Given the description of an element on the screen output the (x, y) to click on. 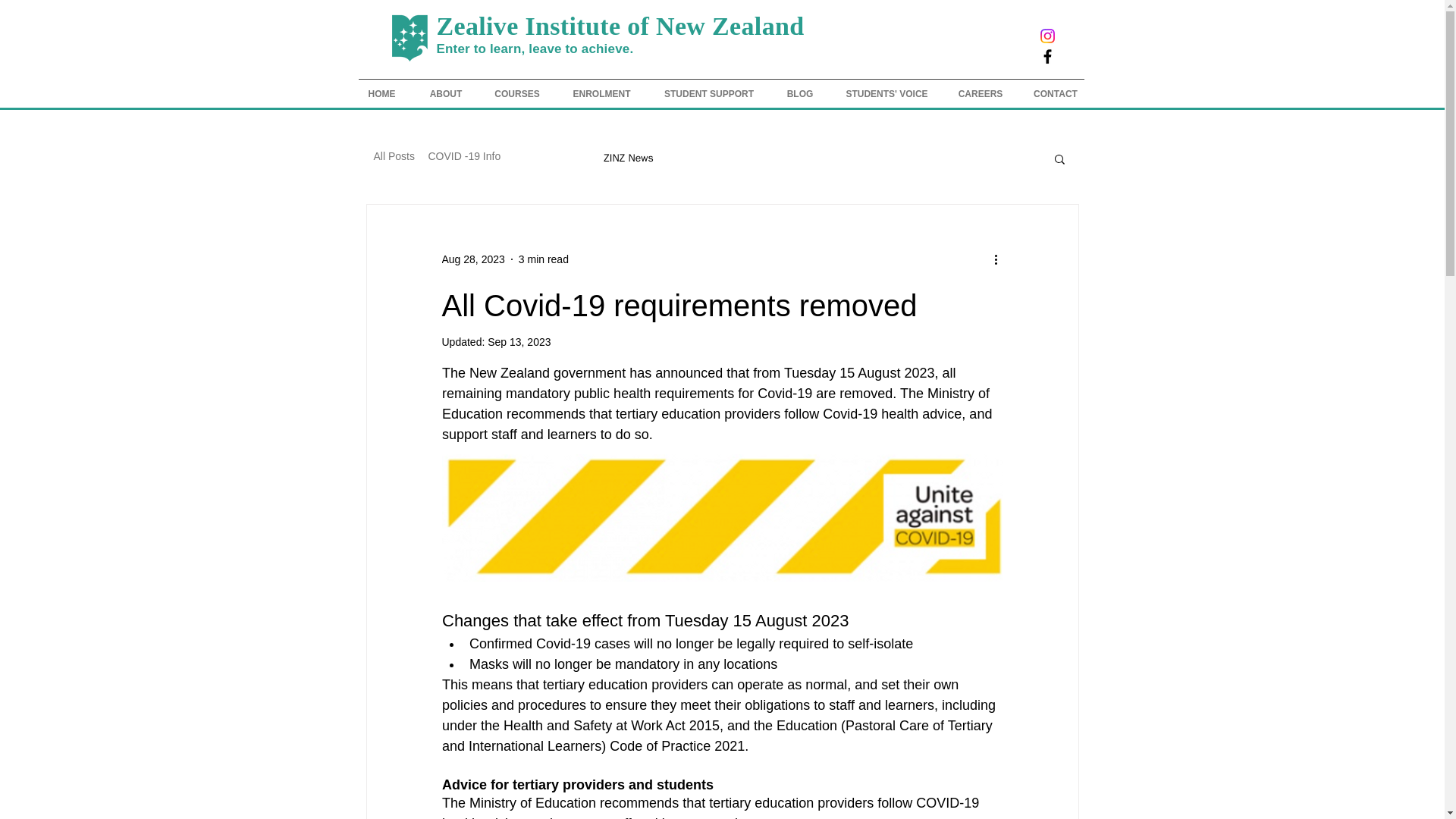
3 min read (543, 259)
CAREERS (979, 93)
HOME (381, 93)
Aug 28, 2023 (472, 259)
ABOUT (445, 93)
COVID-19 (550, 158)
STUDENTS' VOICE (886, 93)
ZINZ News (628, 158)
ENROLMENT (600, 93)
STUDENT SUPPORT (708, 93)
COURSES (517, 93)
posts (378, 158)
School Activities (459, 158)
BLOG (799, 93)
CONTACT (1055, 93)
